Given the description of an element on the screen output the (x, y) to click on. 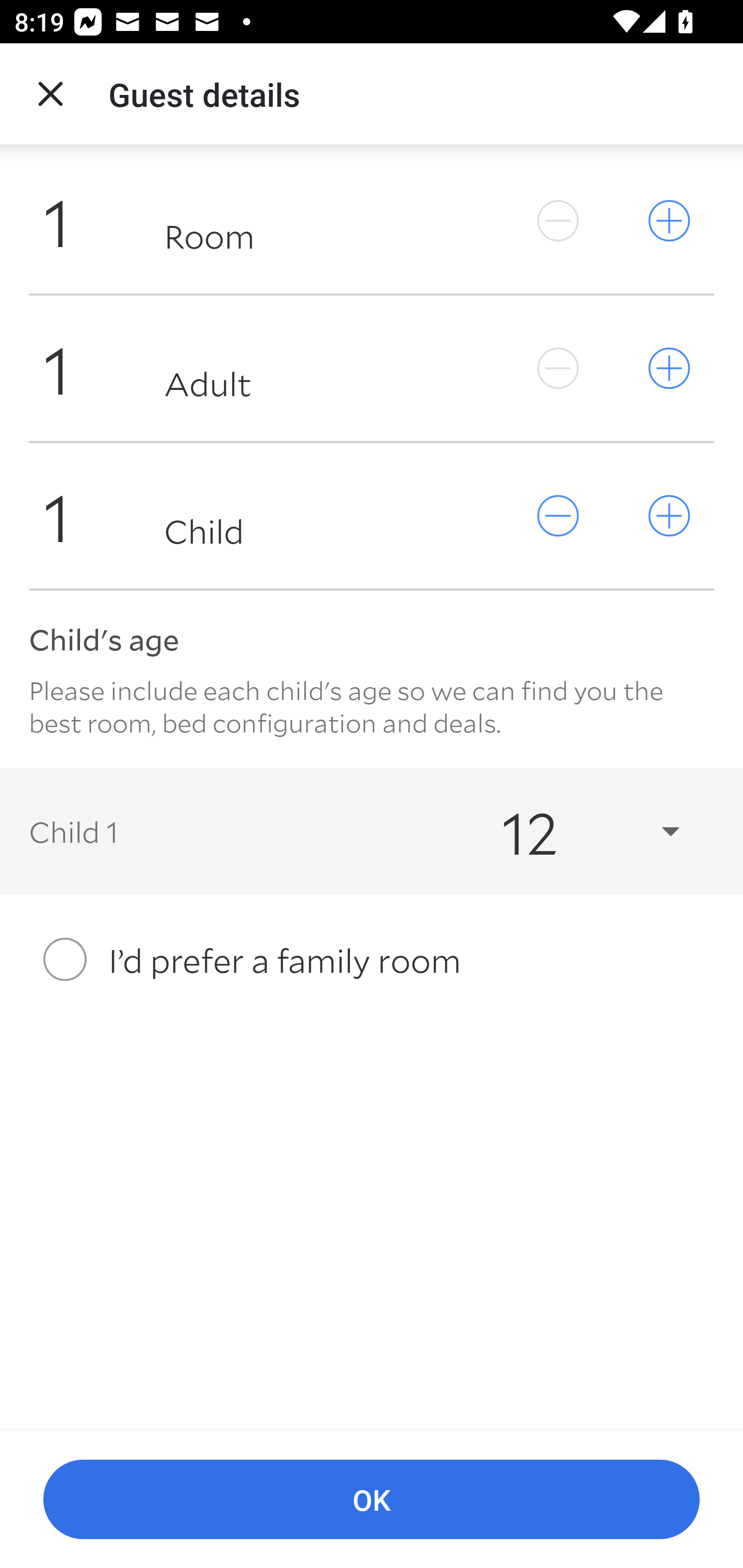
12 (573, 830)
I’d prefer a family room (371, 959)
OK (371, 1499)
